Given the description of an element on the screen output the (x, y) to click on. 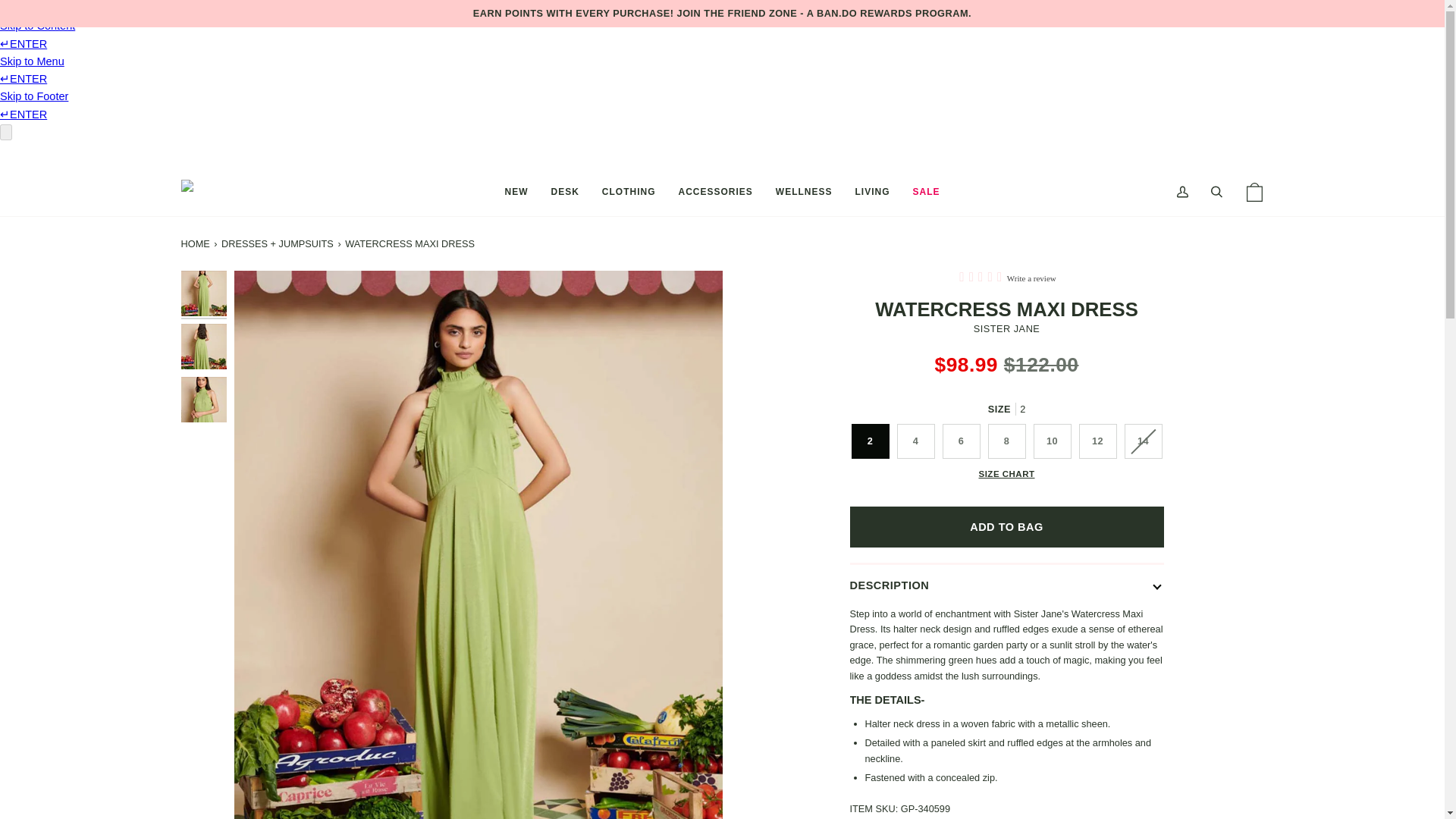
NEW (515, 192)
Back to the frontpage (195, 243)
DESK (563, 192)
CLOTHING (628, 192)
ACCESSORIES (714, 192)
